Given the description of an element on the screen output the (x, y) to click on. 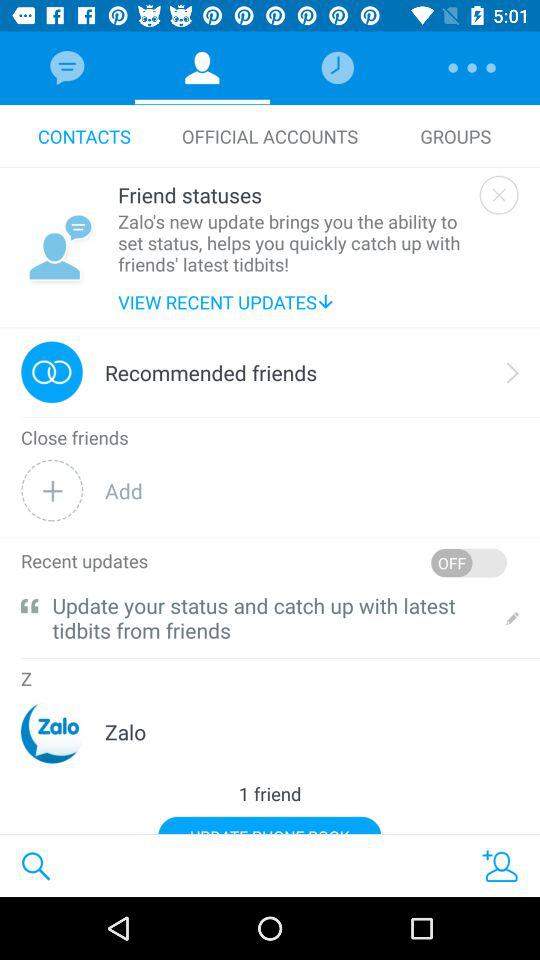
click the item above the view recent updates item (294, 242)
